Given the description of an element on the screen output the (x, y) to click on. 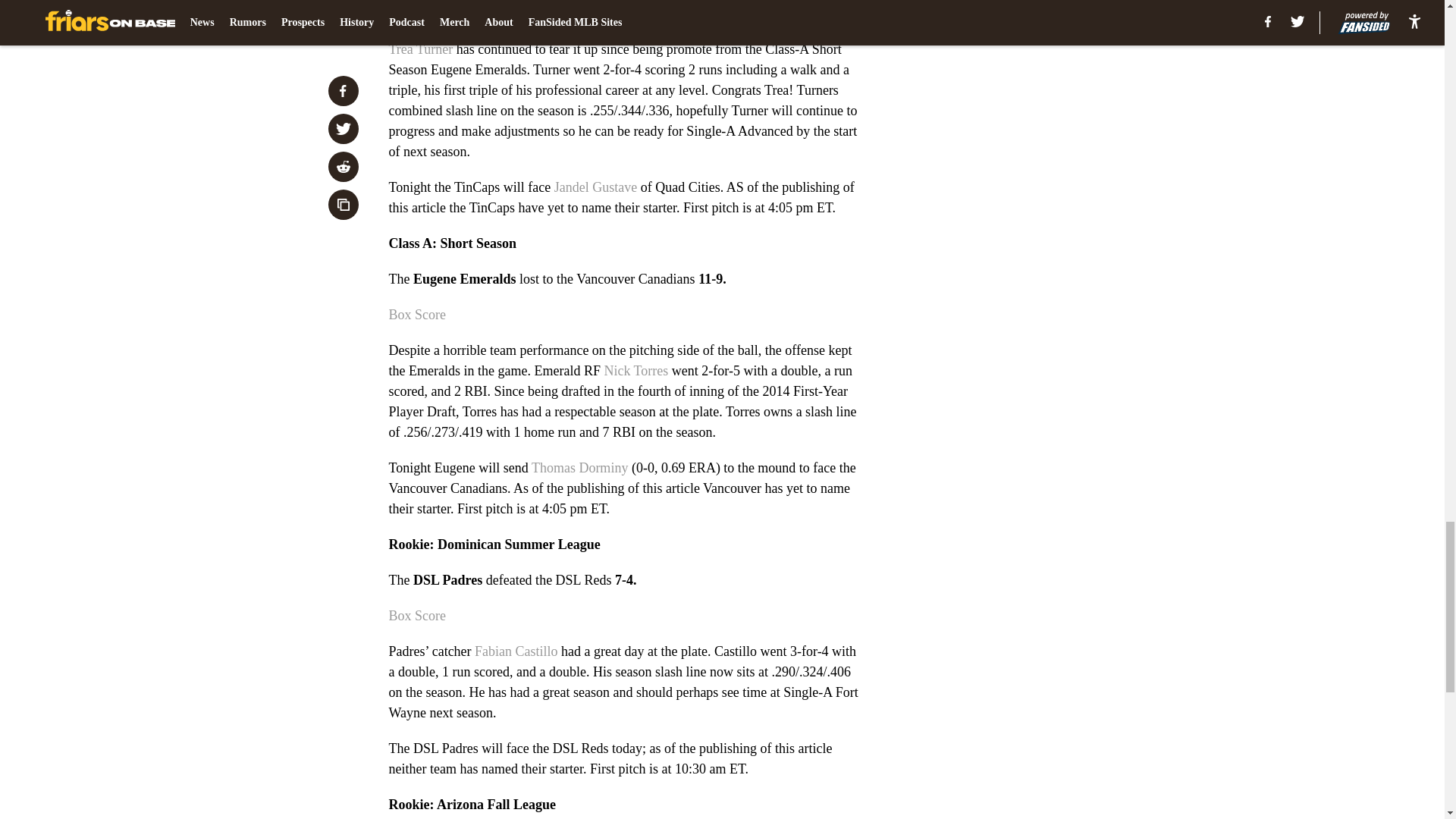
Box Score (416, 13)
Box Score (416, 314)
Jandel Gustave (595, 186)
Thomas Dorminy (579, 467)
Trea Turner (420, 48)
Fabian Castillo (515, 651)
Nick Torres (636, 370)
Box Score (416, 615)
